Given the description of an element on the screen output the (x, y) to click on. 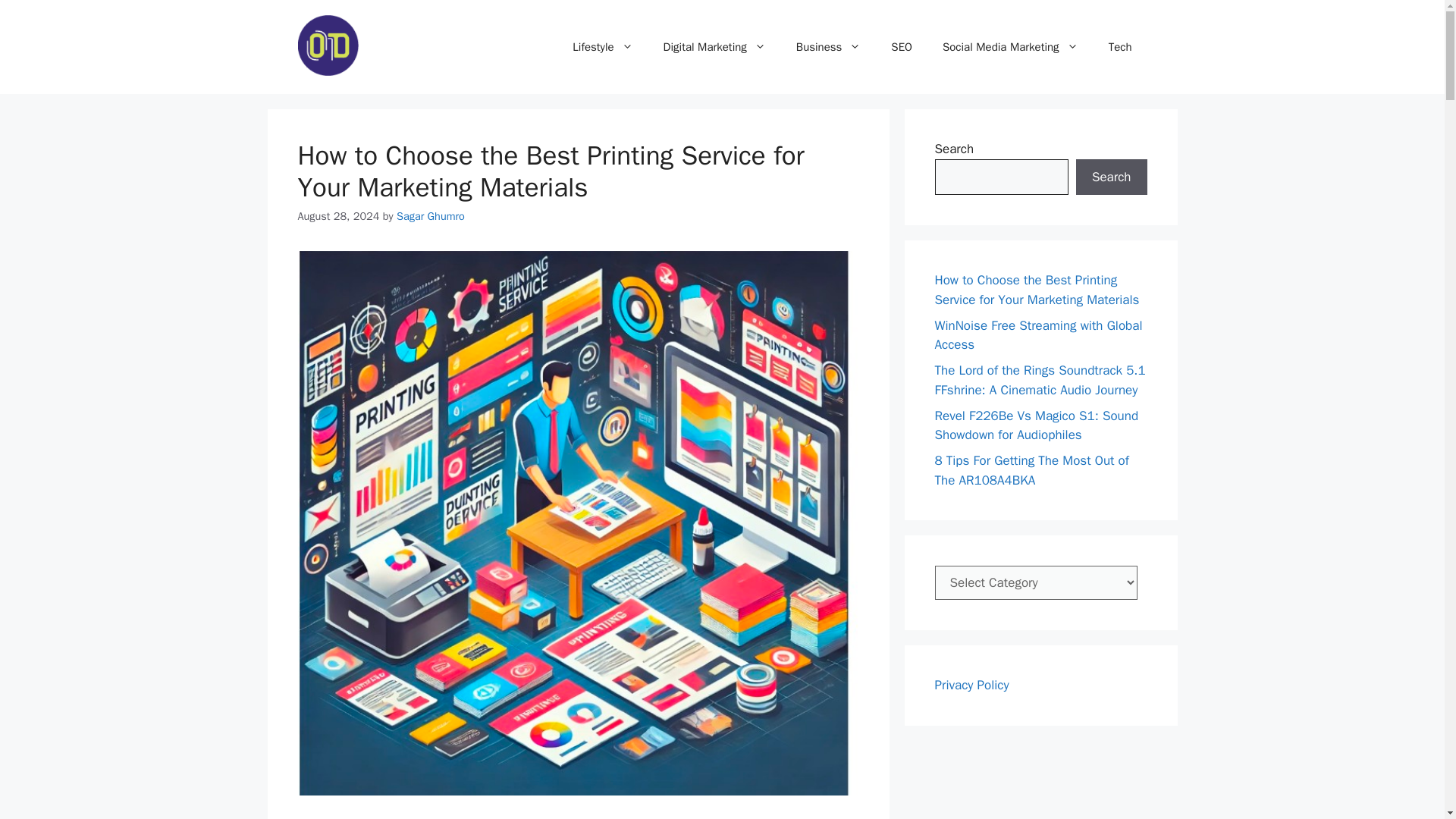
Social Media Marketing (1010, 46)
Sagar Ghumro (430, 215)
View all posts by Sagar Ghumro (430, 215)
Business (828, 46)
Tech (1120, 46)
Digital Marketing (713, 46)
Lifestyle (602, 46)
SEO (901, 46)
